Given the description of an element on the screen output the (x, y) to click on. 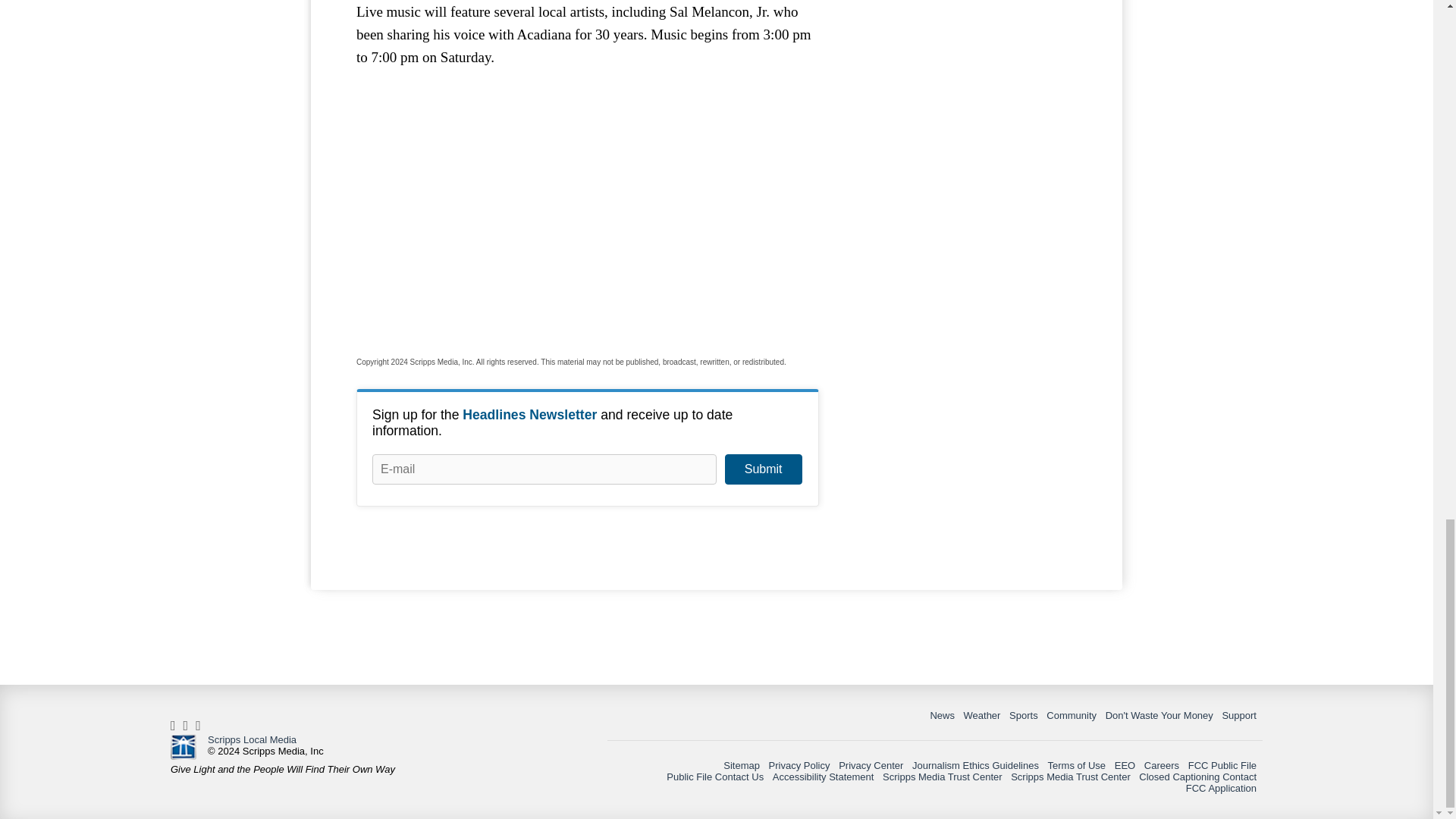
Submit (763, 469)
YouTube player (587, 213)
